Given the description of an element on the screen output the (x, y) to click on. 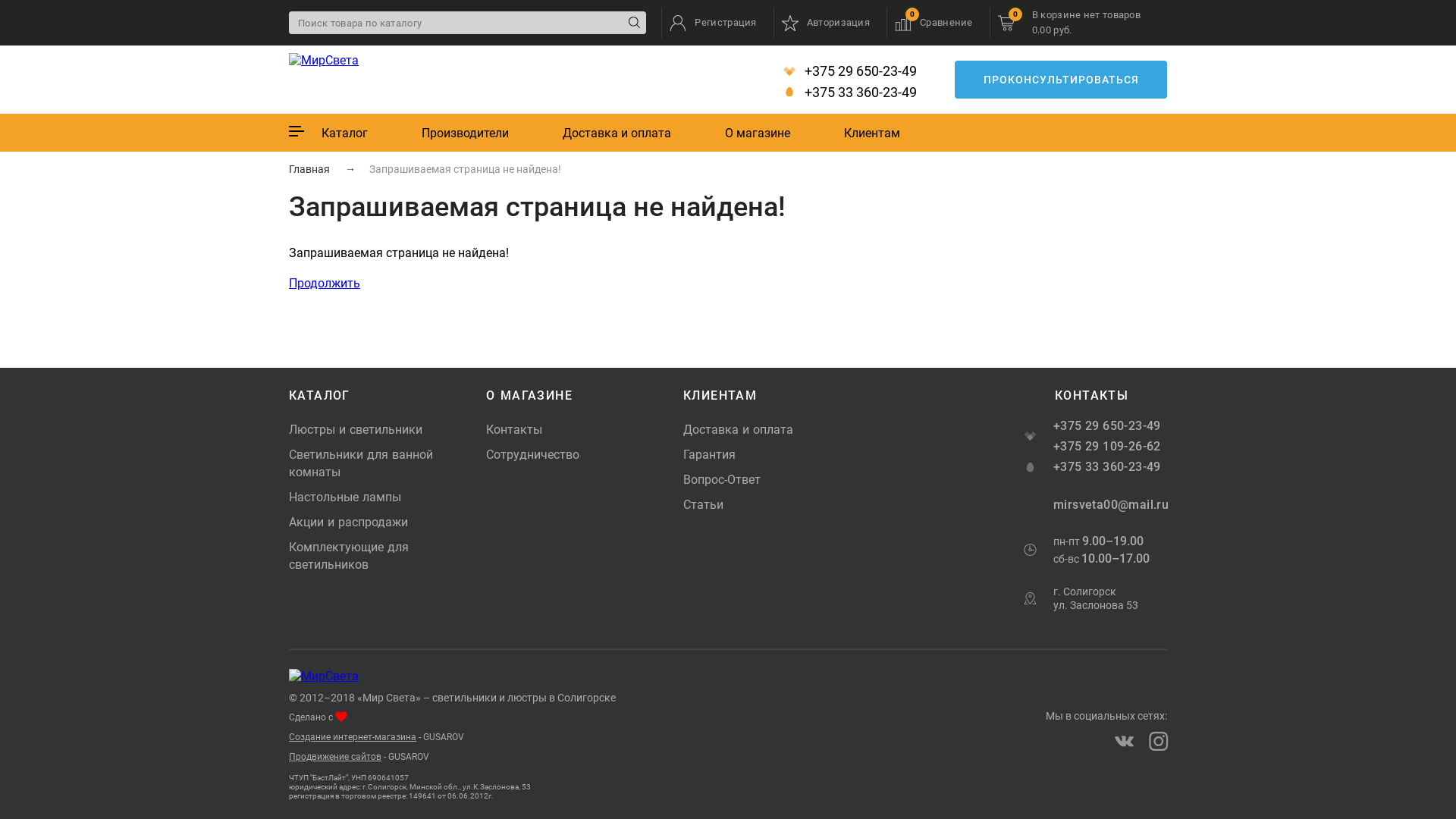
+375 29 650-23-49 Element type: text (1110, 425)
+375 33 360-23-49 Element type: text (1110, 466)
+375 29 650-23-49 Element type: text (846, 71)
+375 29 109-26-62 Element type: text (1110, 446)
+375 33 360-23-49 Element type: text (846, 92)
mirsveta00@mail.ru Element type: text (1110, 504)
